Given the description of an element on the screen output the (x, y) to click on. 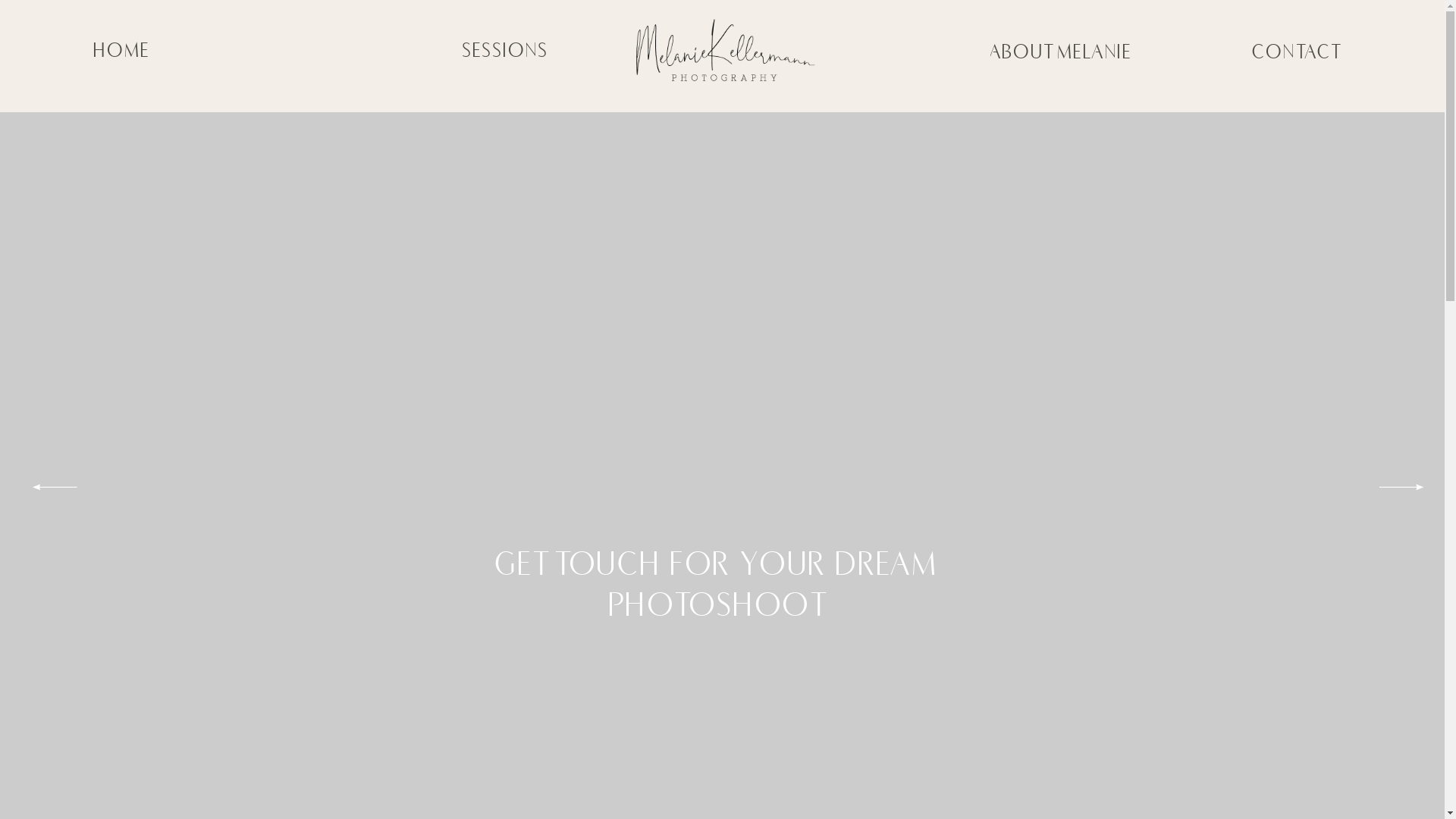
SESSIONS Element type: text (505, 50)
ABOUT MELANIE Element type: text (1061, 51)
HOME Element type: text (122, 50)
CONTACT Element type: text (1296, 51)
